Given the description of an element on the screen output the (x, y) to click on. 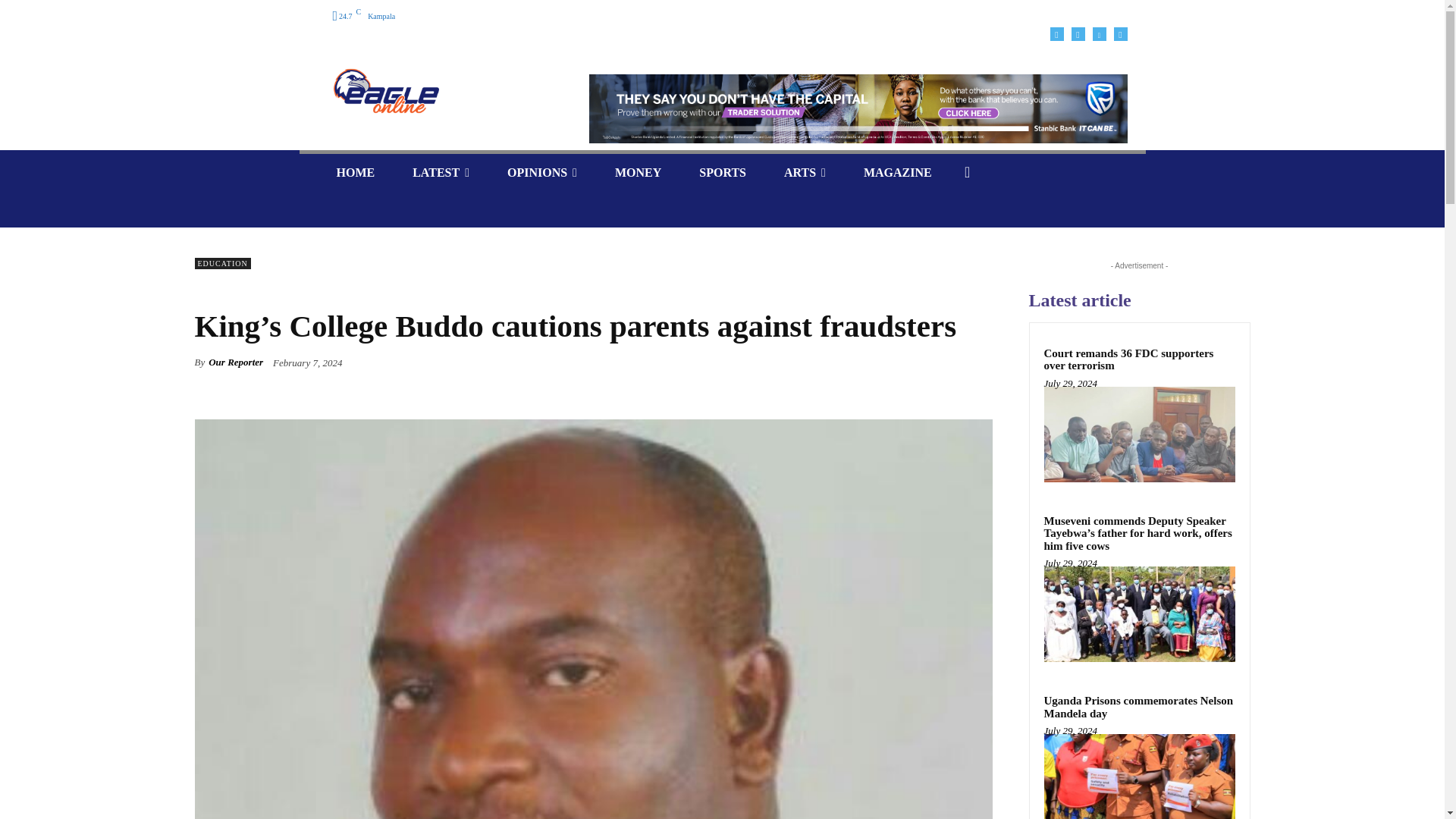
Instagram (1077, 33)
Eagle Online (440, 90)
LATEST (440, 171)
ARTS (804, 171)
MONEY (637, 171)
Facebook (1055, 33)
OPINIONS (541, 171)
Linkedin (1098, 33)
SPORTS (722, 171)
Twitter (1119, 33)
HOME (355, 171)
Eagle Online (385, 90)
